Given the description of an element on the screen output the (x, y) to click on. 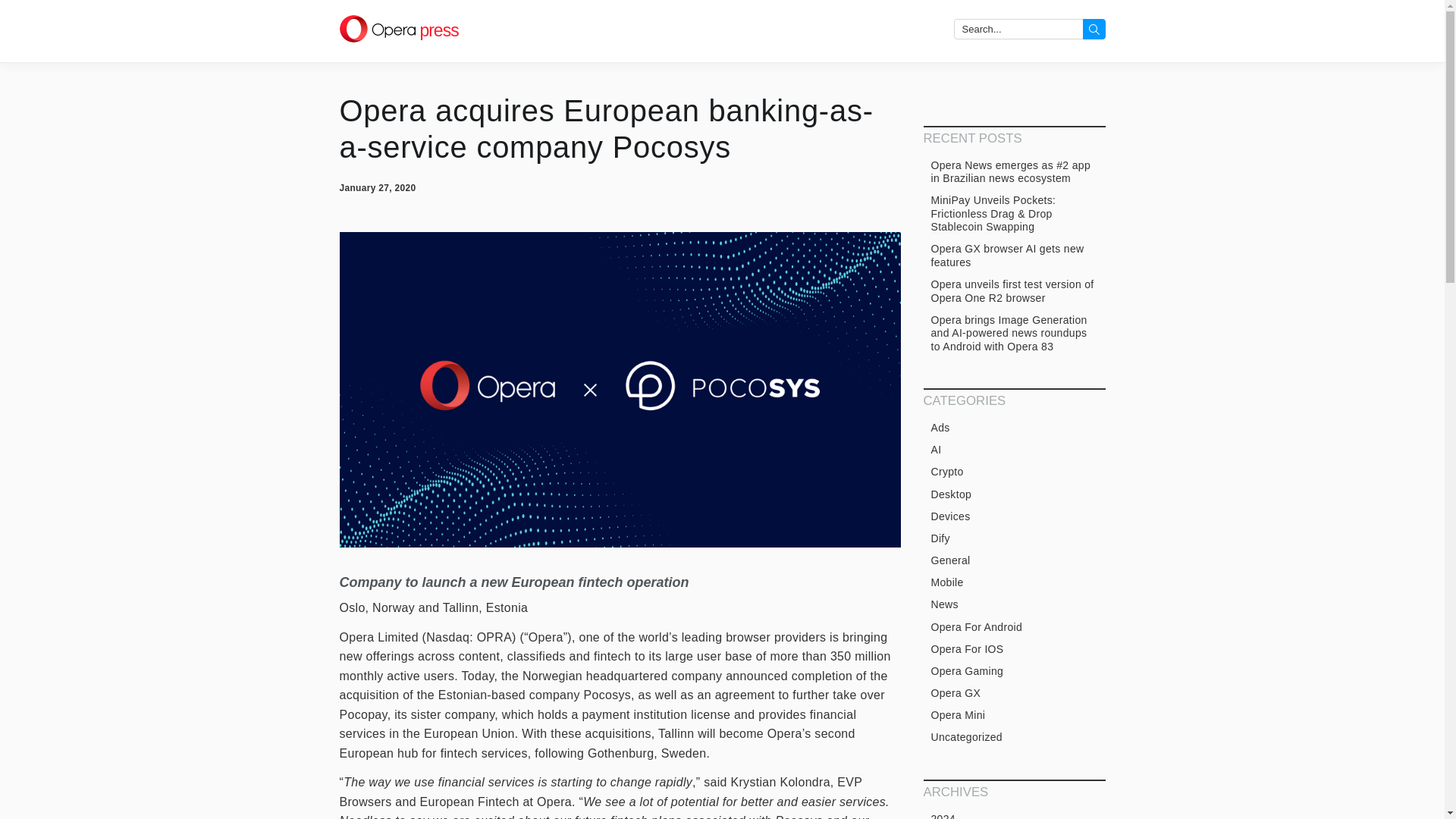
Ads (1014, 428)
Opera Newsroom (376, 28)
Mobile (1014, 583)
Search (1094, 28)
Opera Gaming (1014, 671)
Opera GX (1014, 693)
News (1014, 605)
Opera Newsroom (398, 30)
Opera acquires European banking-as-a-service company Pocosys (606, 128)
Desktop (1014, 494)
Dify (1014, 538)
Opera unveils first test version of Opera One R2 browser (1014, 291)
General (1014, 561)
Uncategorized (1014, 737)
